Given the description of an element on the screen output the (x, y) to click on. 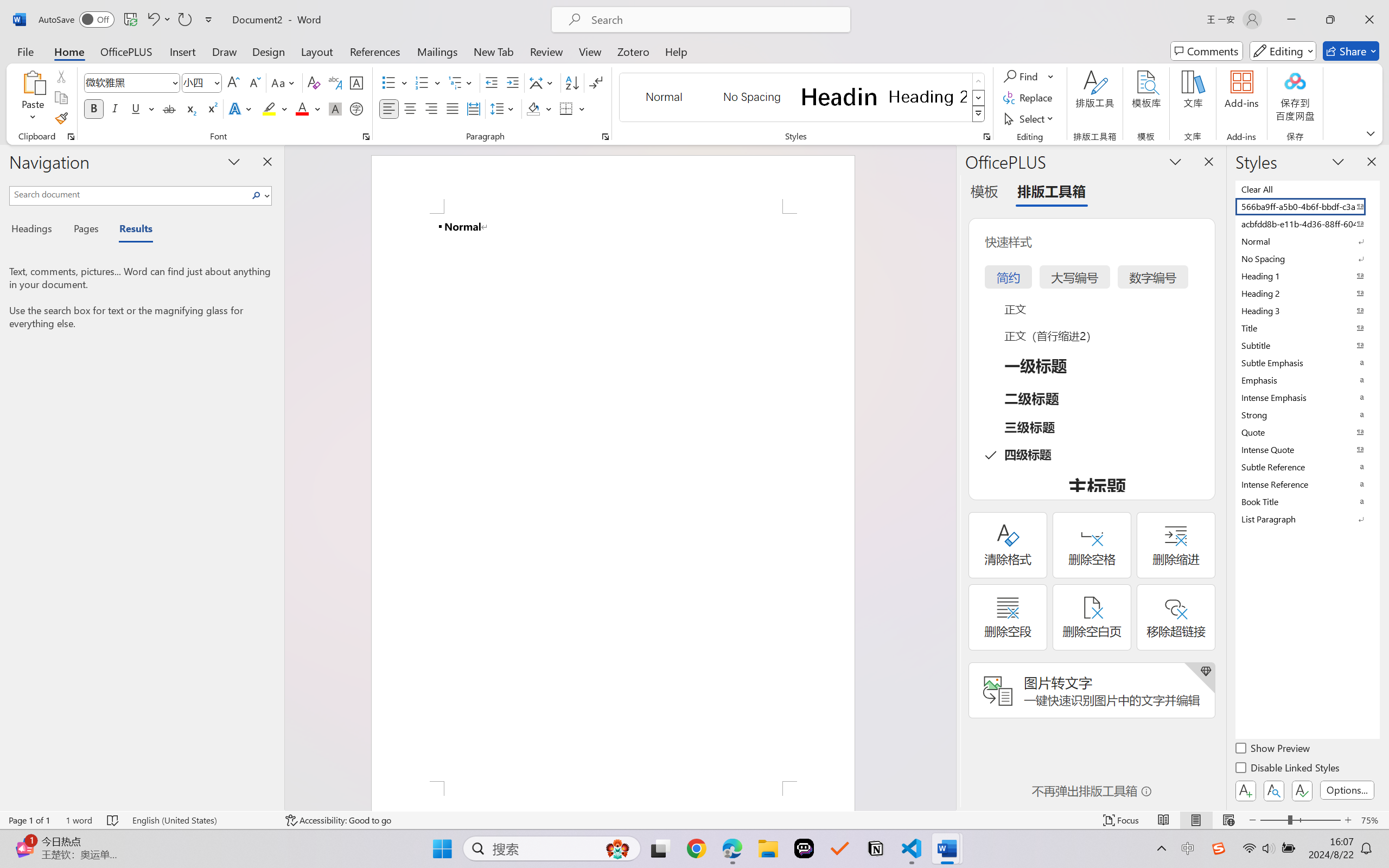
AutomationID: QuickStylesGallery (802, 97)
Subtle Emphasis (1306, 362)
Read Mode (1163, 819)
Bullets (395, 82)
Word Count 1 word (78, 819)
Language English (United States) (201, 819)
Increase Indent (512, 82)
Decrease Indent (491, 82)
Multilevel List (461, 82)
Font (132, 82)
Numbering (421, 82)
